Given the description of an element on the screen output the (x, y) to click on. 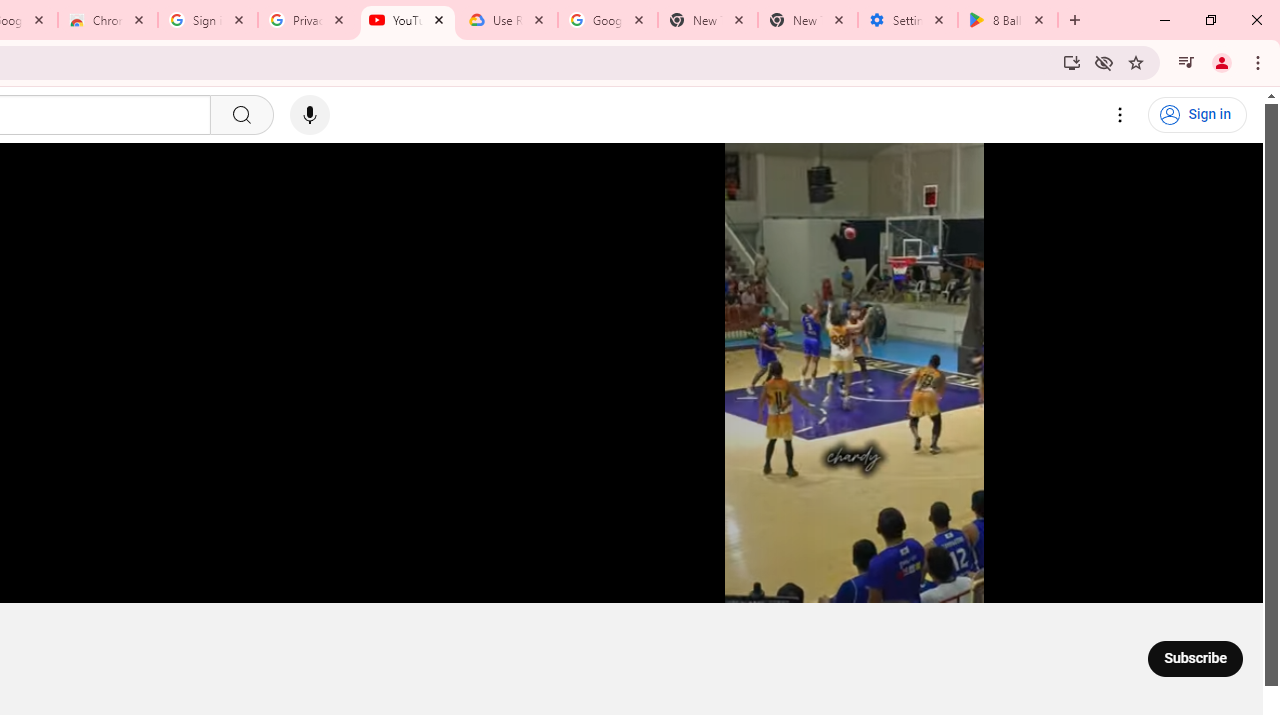
Subscribe to Sports. (1195, 658)
8 Ball Pool - Apps on Google Play (1007, 20)
Chrome Web Store - Color themes by Chrome (107, 20)
